Given the description of an element on the screen output the (x, y) to click on. 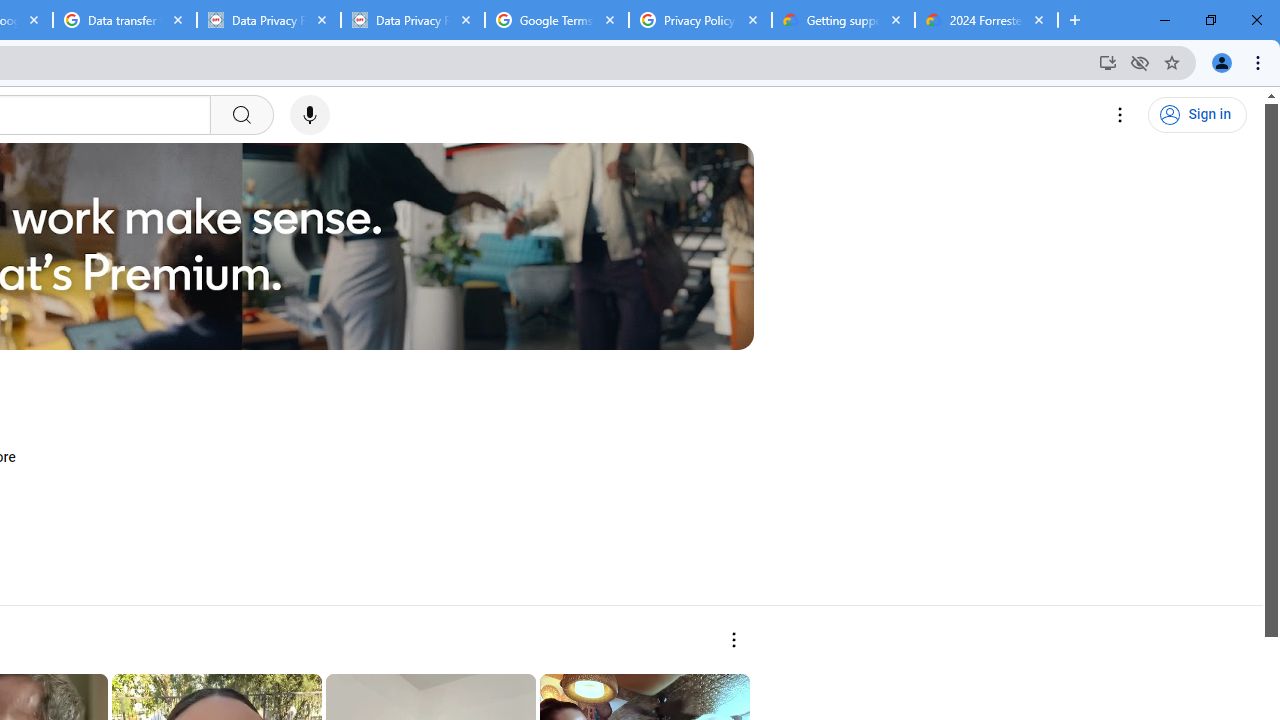
Install YouTube (1107, 62)
Data Privacy Framework (412, 20)
Sign in (1197, 115)
Settings (1119, 115)
Search with your voice (309, 115)
Minimize (1165, 20)
Data Privacy Framework (268, 20)
Chrome (1260, 62)
More actions (732, 639)
New Tab (1075, 20)
You (1221, 62)
